Given the description of an element on the screen output the (x, y) to click on. 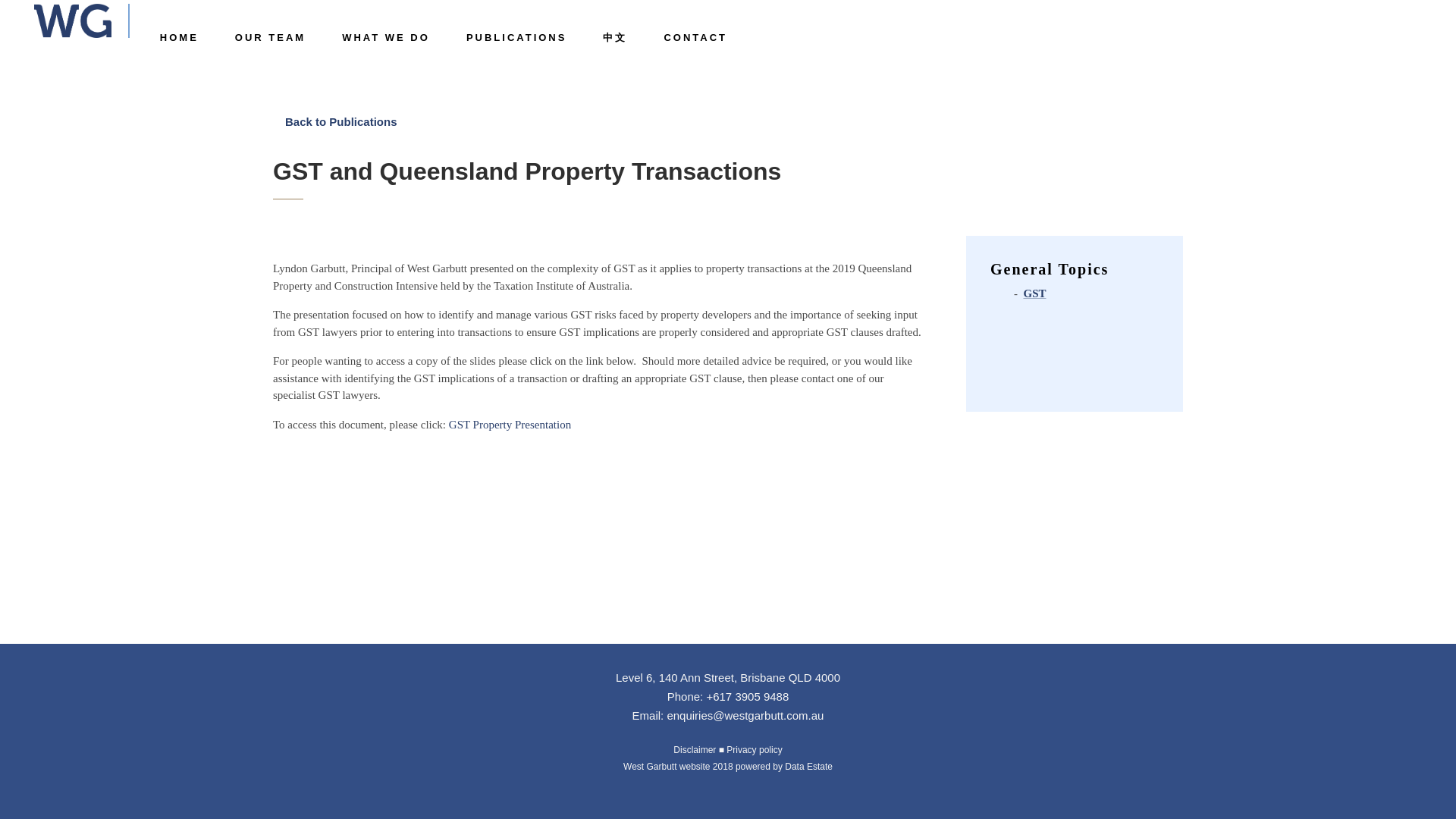
PUBLICATIONS (516, 38)
Disclaimer (694, 749)
GST Property Presentation (509, 424)
OUR TEAM (269, 38)
WHAT WE DO (385, 38)
Data Estate (808, 766)
Back to Publications (341, 121)
HOME (178, 38)
CONTACT (695, 38)
GST (1034, 293)
